Given the description of an element on the screen output the (x, y) to click on. 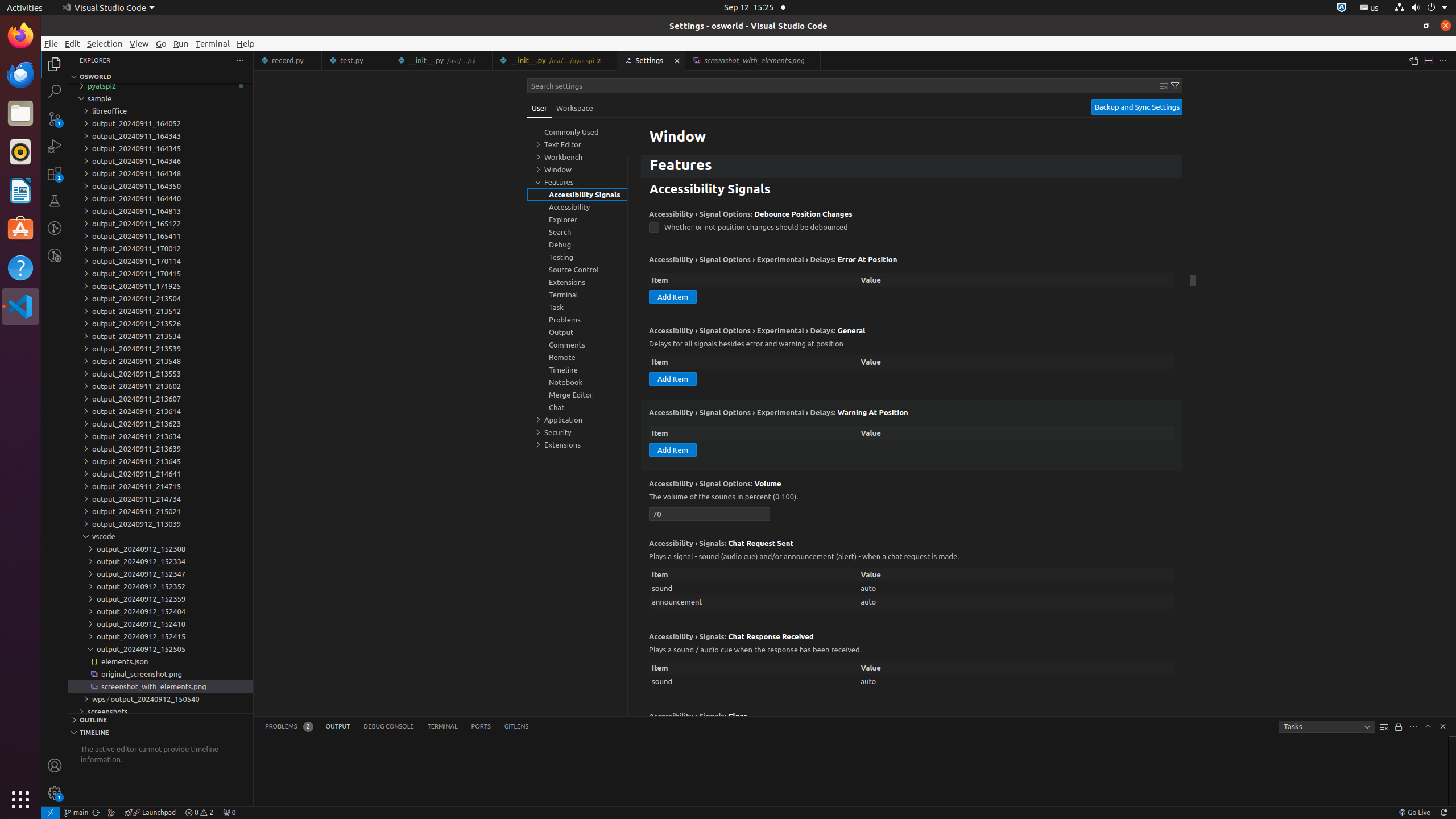
Notebook, group Element type: tree-item (577, 381)
screenshot_with_elements.png, preview Element type: page-tab (753, 60)
GitLens Inspect Element type: page-tab (54, 255)
Explorer (Ctrl+Shift+E) Element type: page-tab (54, 63)
